Given the description of an element on the screen output the (x, y) to click on. 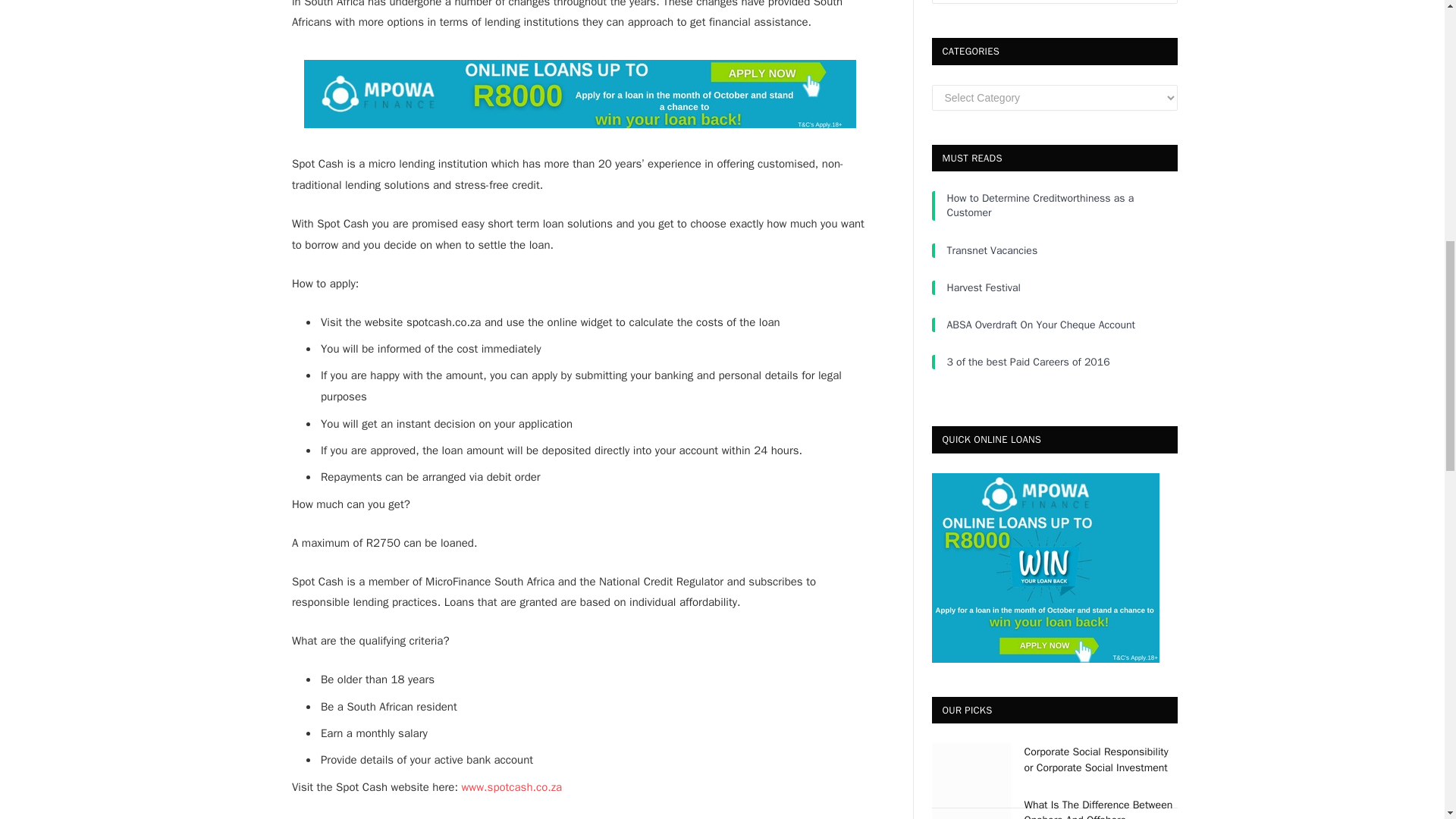
www.spotcash.co.za (511, 786)
